Given the description of an element on the screen output the (x, y) to click on. 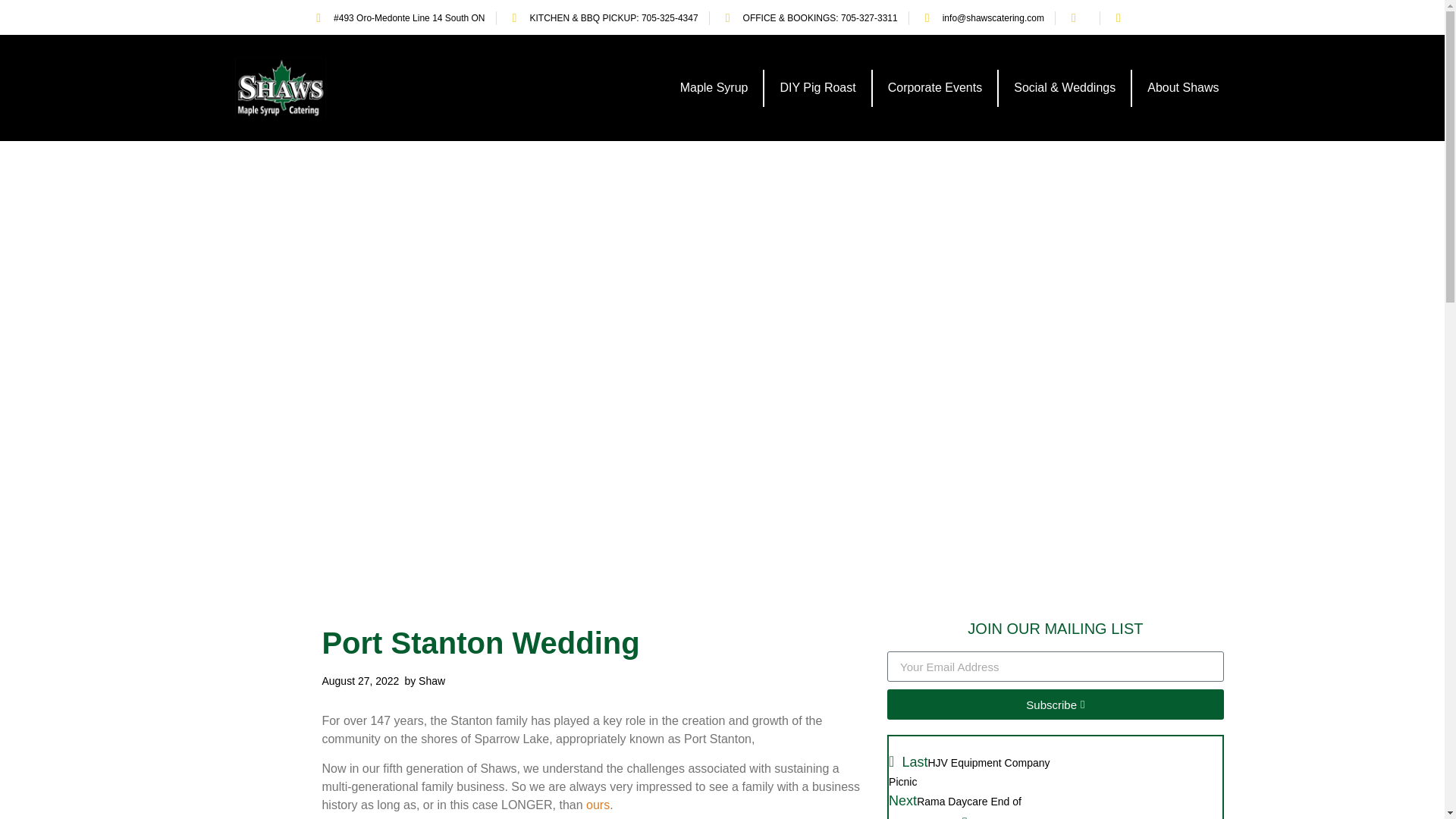
DIY Pig Roast (817, 87)
Corporate Events (934, 87)
About Shaws (1182, 87)
Maple Syrup (713, 87)
